Given the description of an element on the screen output the (x, y) to click on. 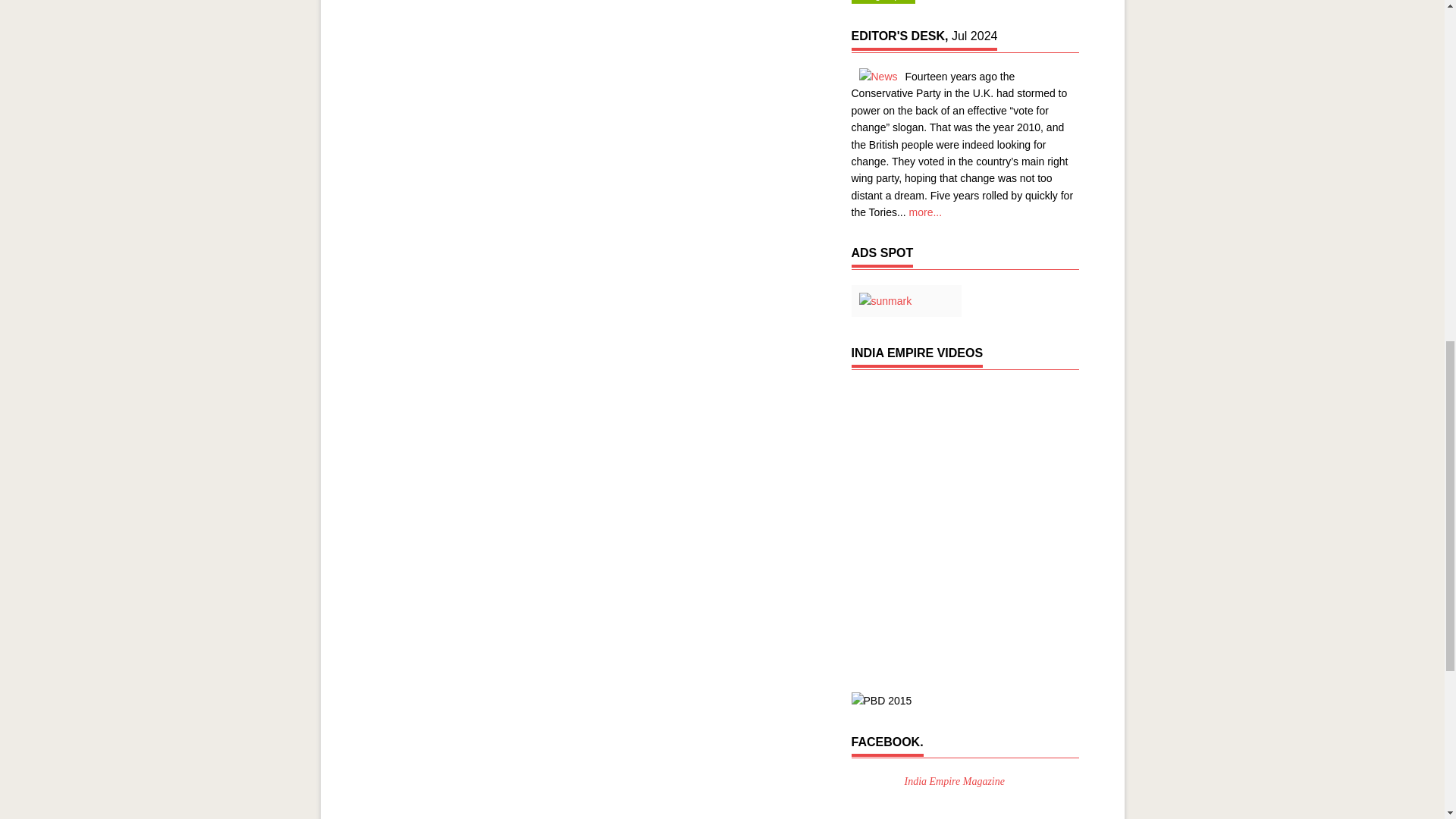
Sign up (882, 2)
